Given the description of an element on the screen output the (x, y) to click on. 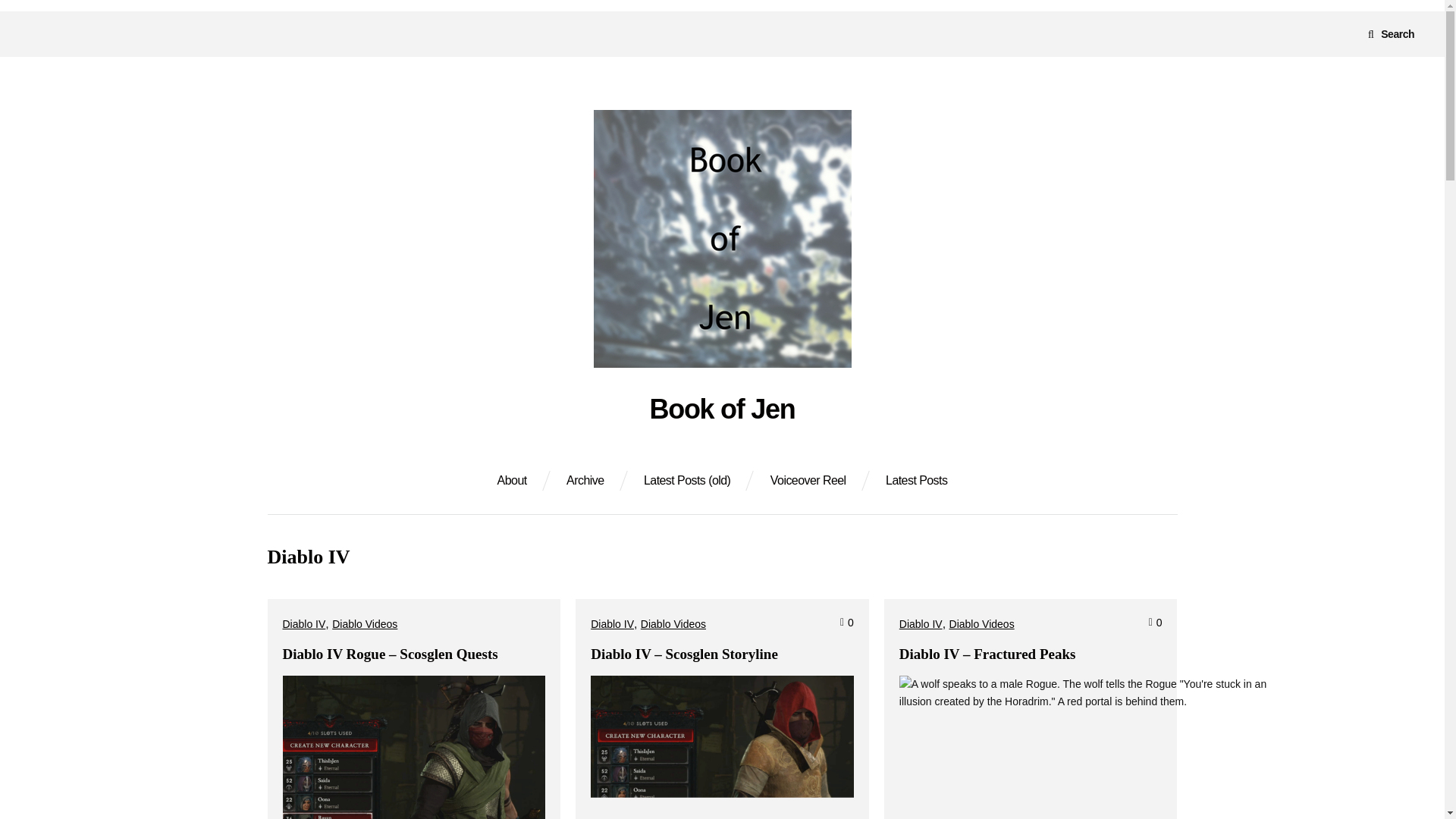
Diablo Videos (673, 623)
Diablo IV (920, 623)
Archive (585, 480)
Diablo IV (303, 623)
Diablo Videos (364, 623)
About (512, 480)
Book of Jen (721, 409)
Diablo IV (612, 623)
Diablo Videos (981, 623)
Latest Posts (916, 480)
